Given the description of an element on the screen output the (x, y) to click on. 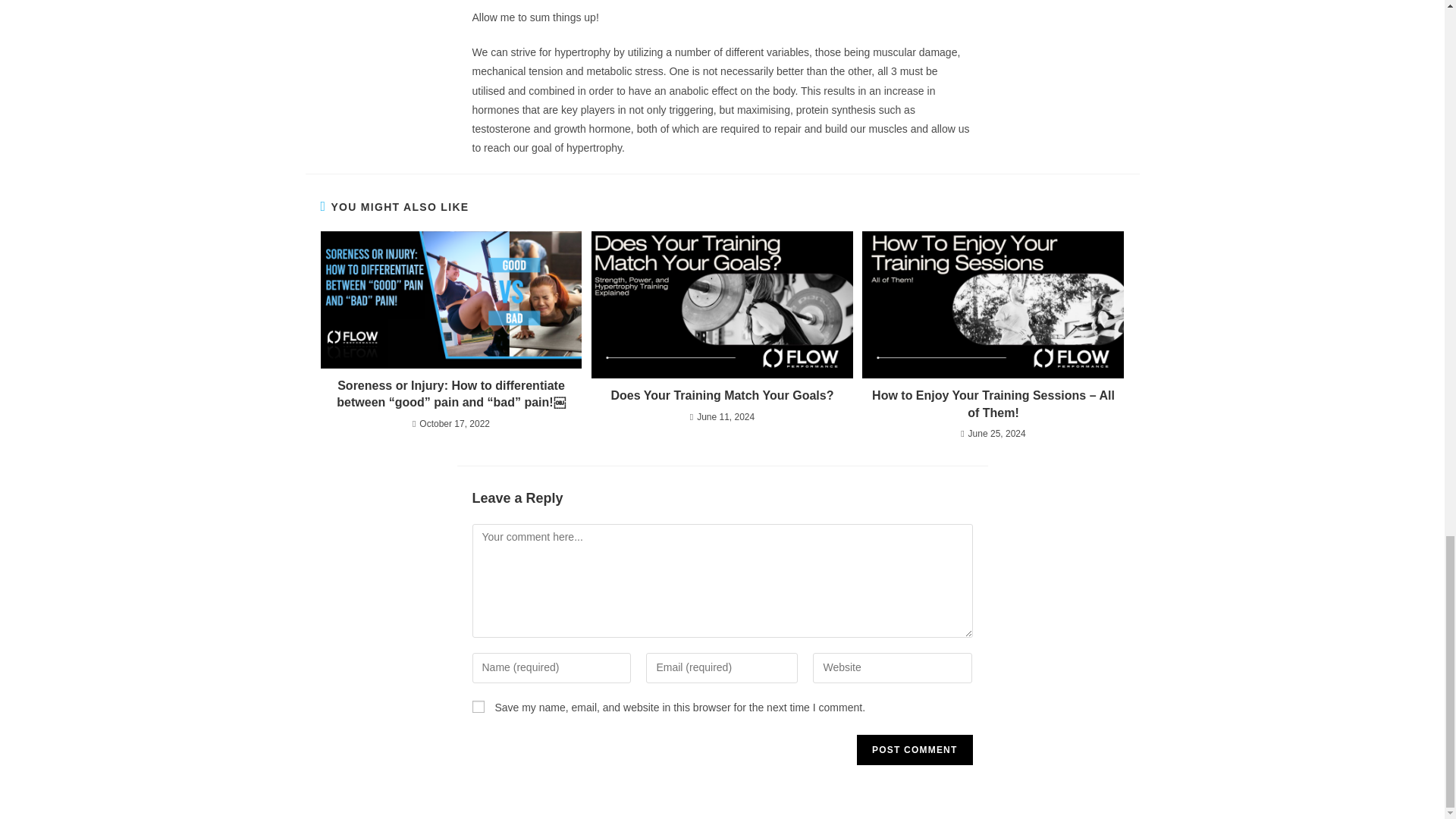
Post Comment (914, 749)
Does Your Training Match Your Goals? (721, 395)
yes (477, 706)
